Given the description of an element on the screen output the (x, y) to click on. 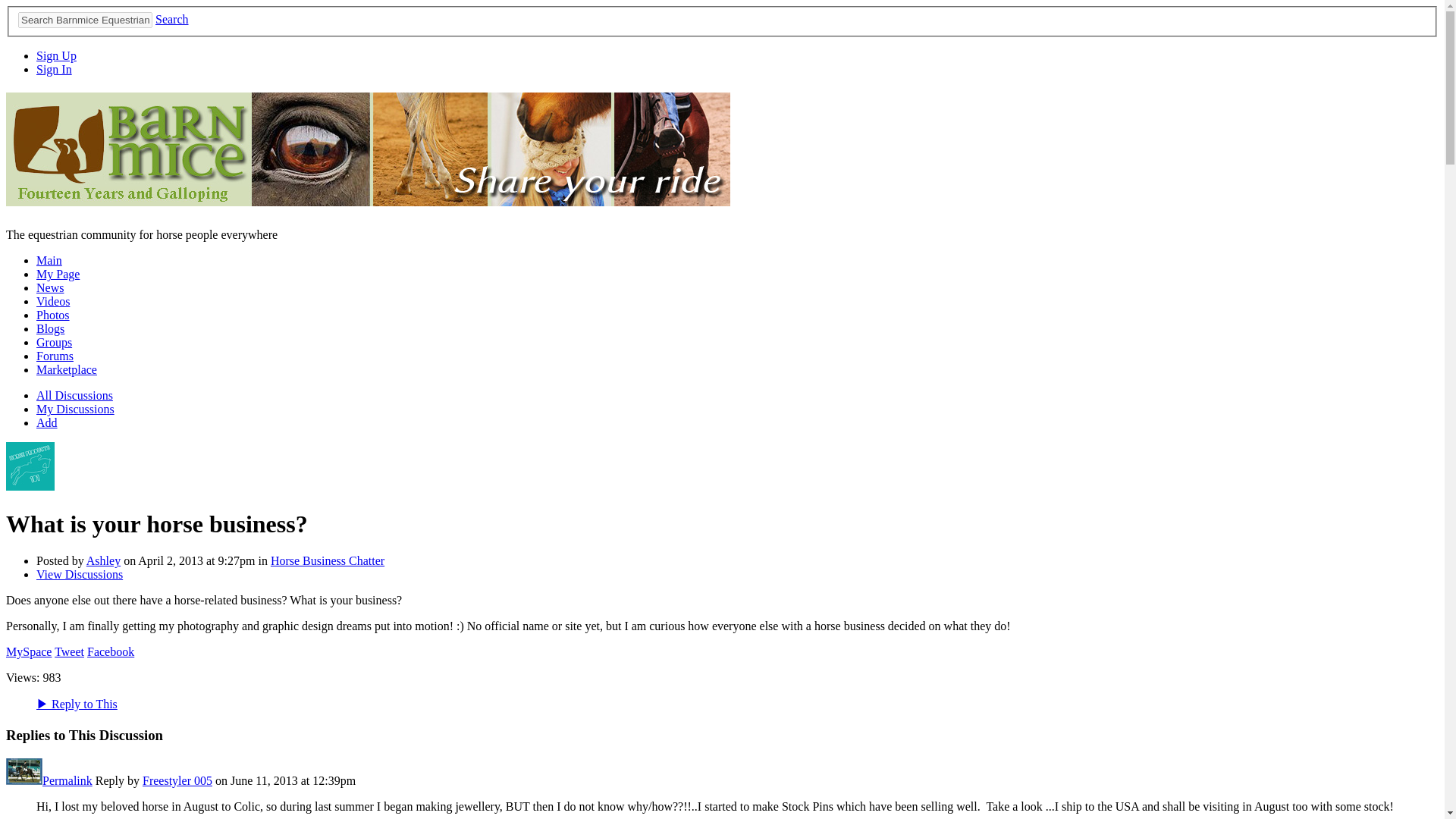
Freestyler 005 (23, 780)
Photos (52, 314)
Search Barnmice Equestrian Social Community (84, 19)
Sign Up (56, 55)
Main (49, 259)
News (50, 287)
Search (172, 19)
Blogs (50, 328)
Ashley (30, 486)
Search Barnmice Equestrian Social Community (84, 19)
